Given the description of an element on the screen output the (x, y) to click on. 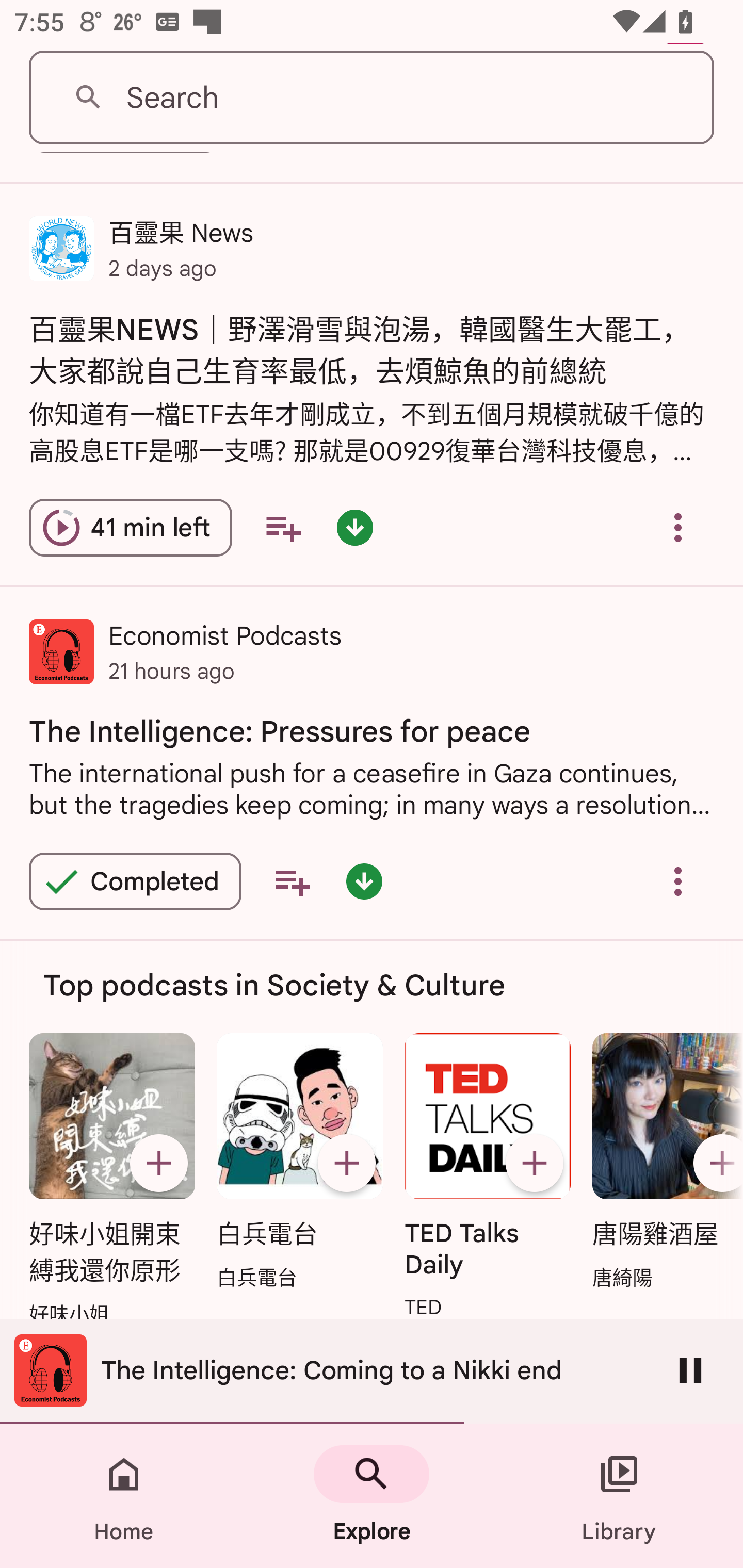
Search (371, 97)
Add to your queue (282, 527)
Episode downloaded - double tap for options 0.0 (354, 527)
Overflow menu (677, 527)
Add to your queue (291, 881)
Episode downloaded - double tap for options (364, 881)
Overflow menu (677, 881)
好味小姐開束縛我還你原形 Subscribe 好味小姐開束縛我還你原形 好味小姐 (111, 1181)
白兵電台 Subscribe 白兵電台 白兵電台 (299, 1162)
TED Talks Daily Subscribe TED Talks Daily TED (487, 1177)
唐陽雞酒屋 Subscribe 唐陽雞酒屋 唐綺陽 (662, 1162)
Subscribe (158, 1163)
Subscribe (346, 1163)
Subscribe (534, 1163)
Subscribe (714, 1163)
Pause (690, 1370)
Home (123, 1495)
Library (619, 1495)
